Given the description of an element on the screen output the (x, y) to click on. 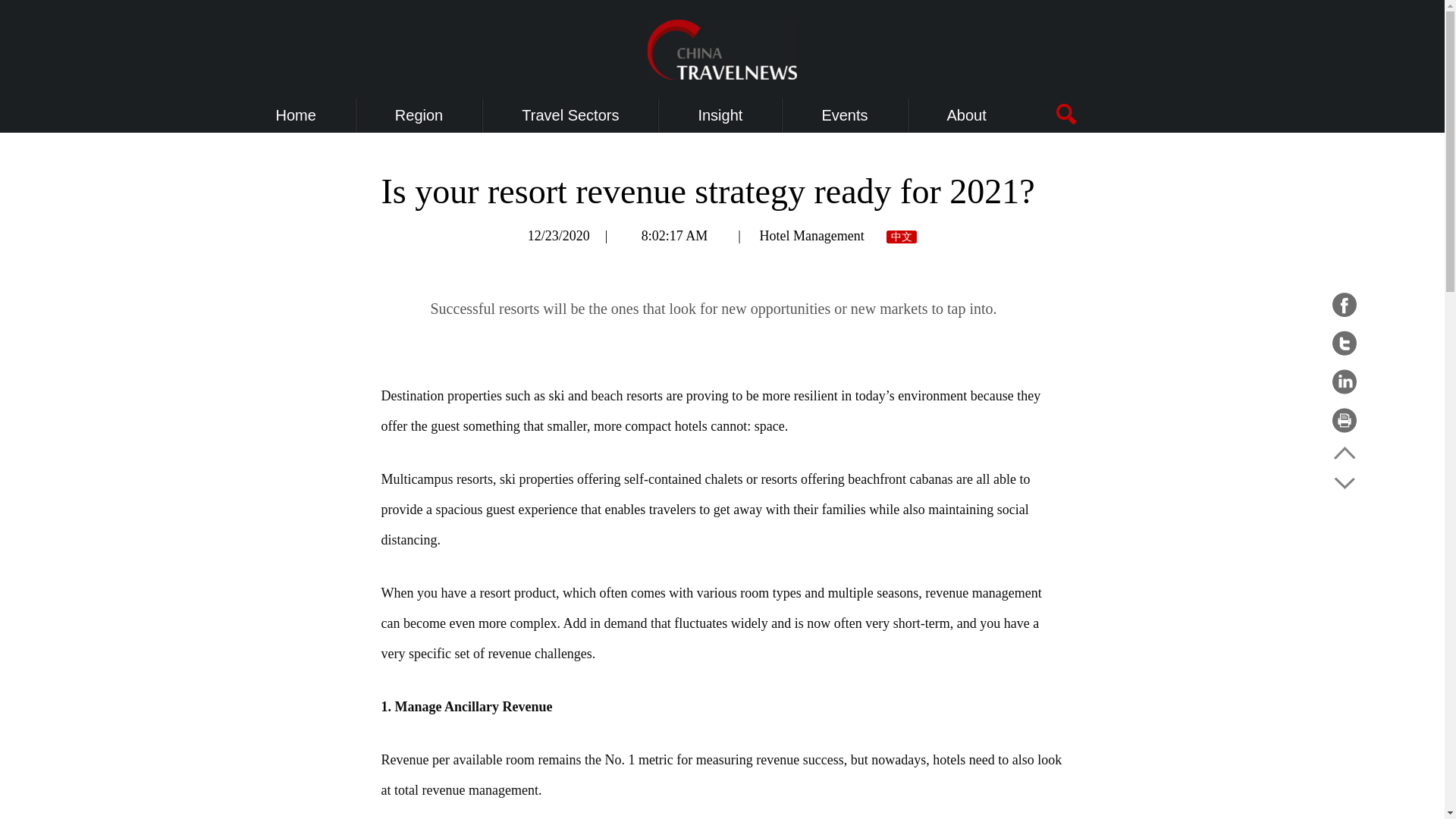
Events (844, 115)
Home (295, 115)
About (967, 115)
